Given the description of an element on the screen output the (x, y) to click on. 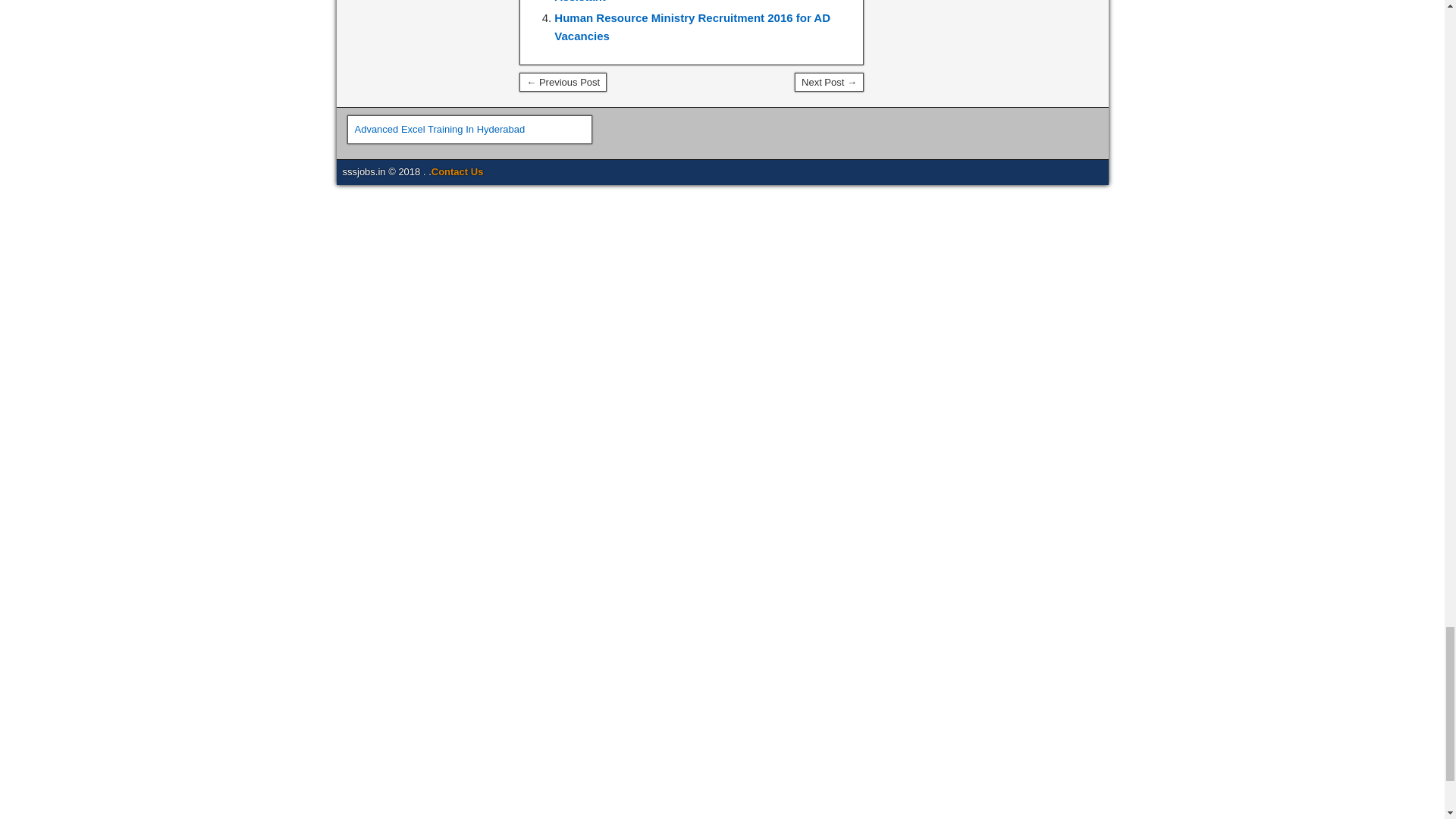
Tamil Nadu PSC Recruitment 2015 for Research Assistant (683, 1)
Tamil Nadu PSC Recruitment 2015 for Research Assistant (683, 1)
Human Resource Ministry Recruitment 2016 for AD Vacancies (691, 26)
Human Resource Ministry Recruitment 2016 for AD Vacancies (691, 26)
TCS Freshers Walkin Recruitment on 24th to 26th June 2015 (828, 82)
